Given the description of an element on the screen output the (x, y) to click on. 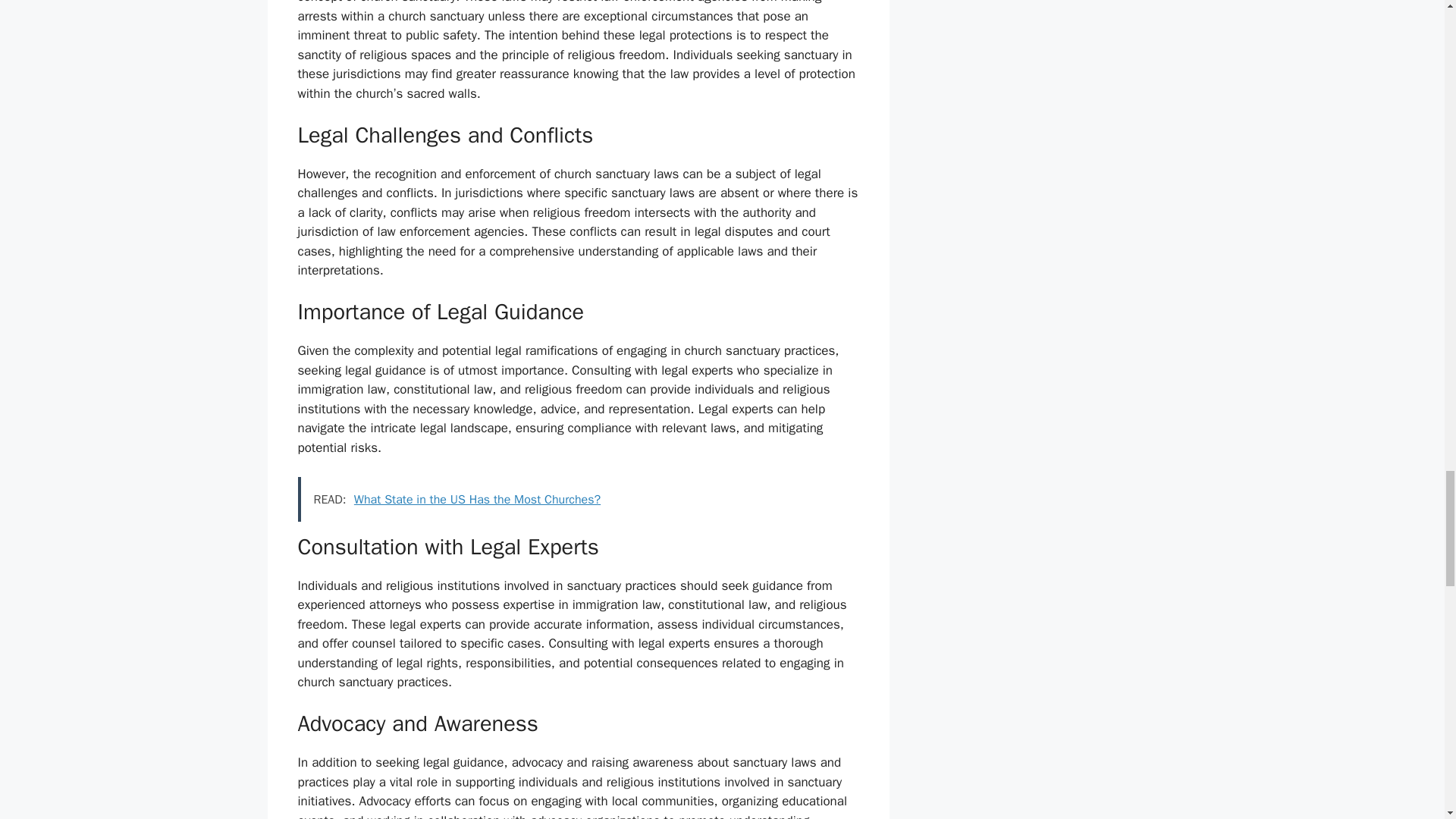
READ:  What State in the US Has the Most Churches? (578, 499)
